Given the description of an element on the screen output the (x, y) to click on. 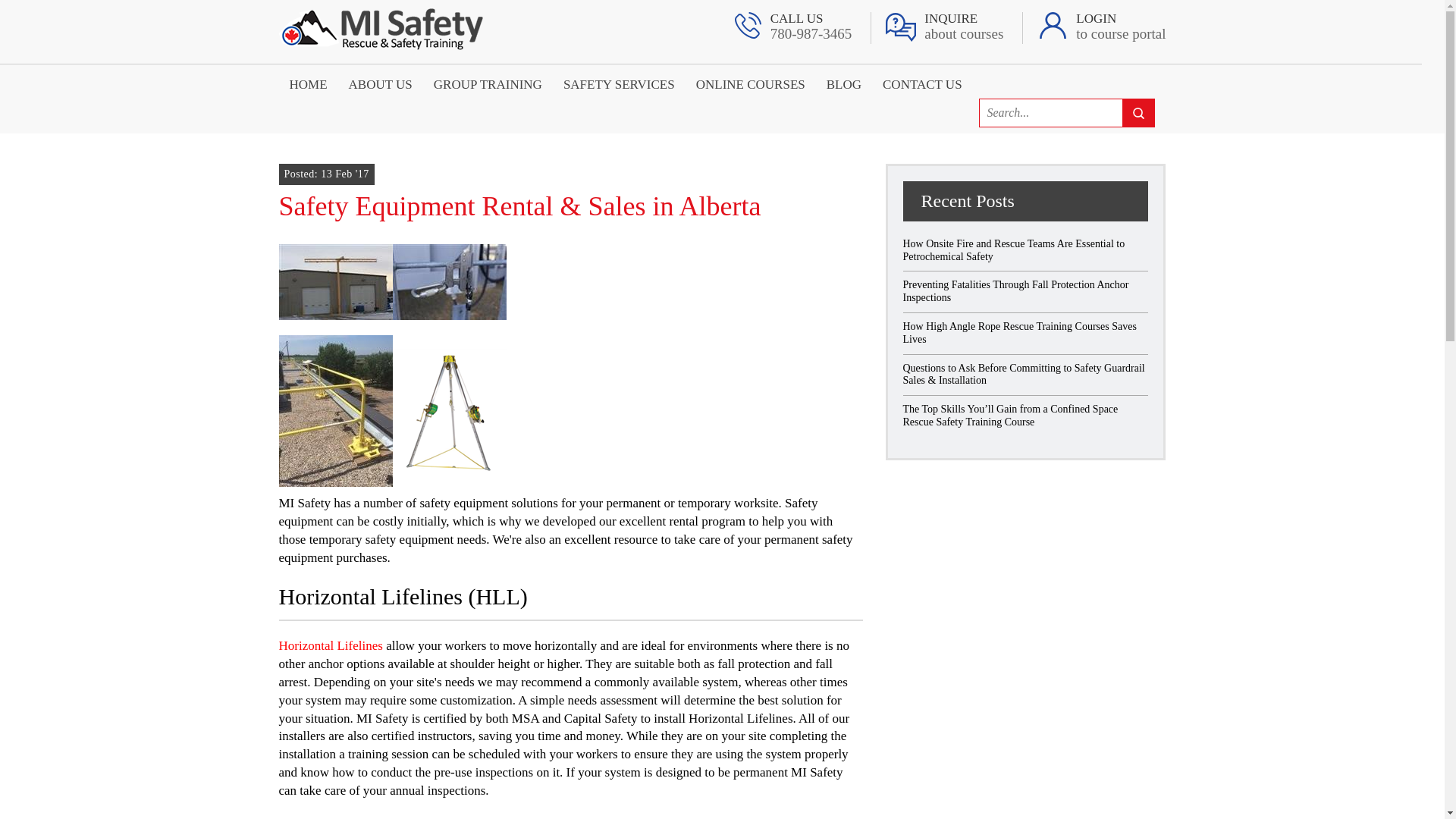
SAFETY SERVICES (619, 84)
ABOUT US (963, 26)
HOME (380, 84)
ONLINE COURSES (308, 84)
Search (750, 84)
GROUP TRAINING (1120, 26)
